Given the description of an element on the screen output the (x, y) to click on. 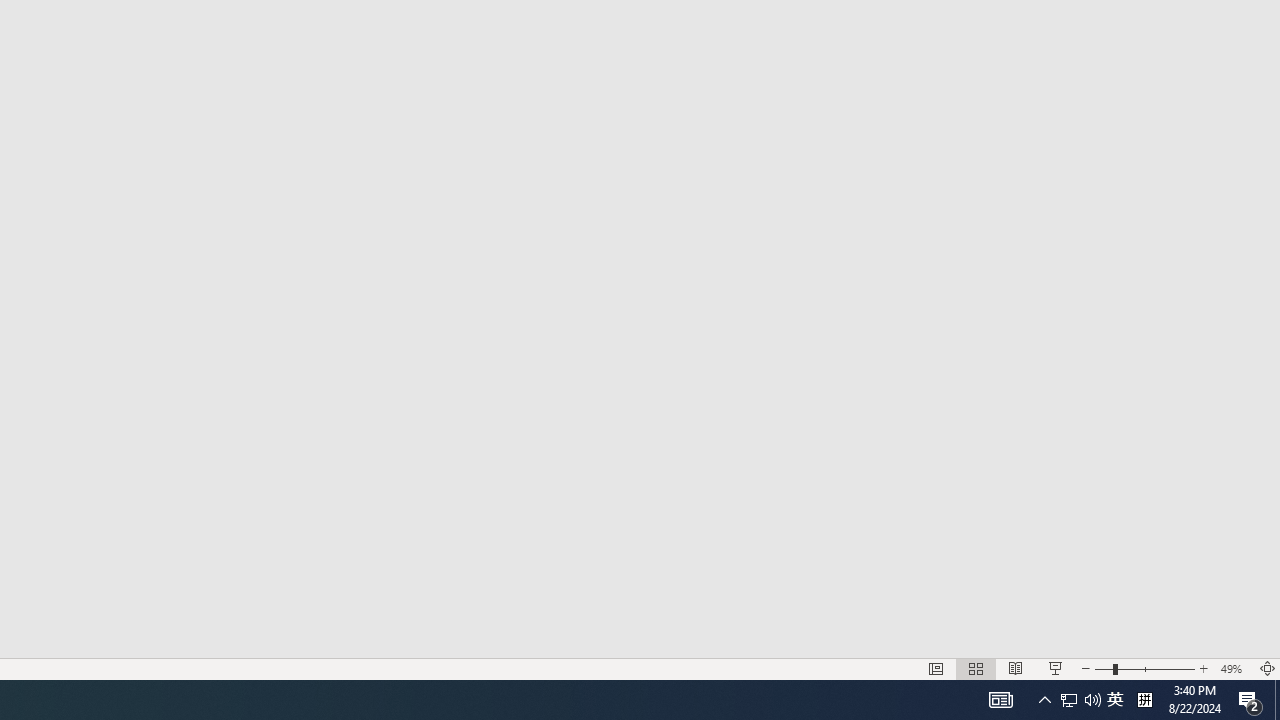
Zoom 49% (1234, 668)
